Given the description of an element on the screen output the (x, y) to click on. 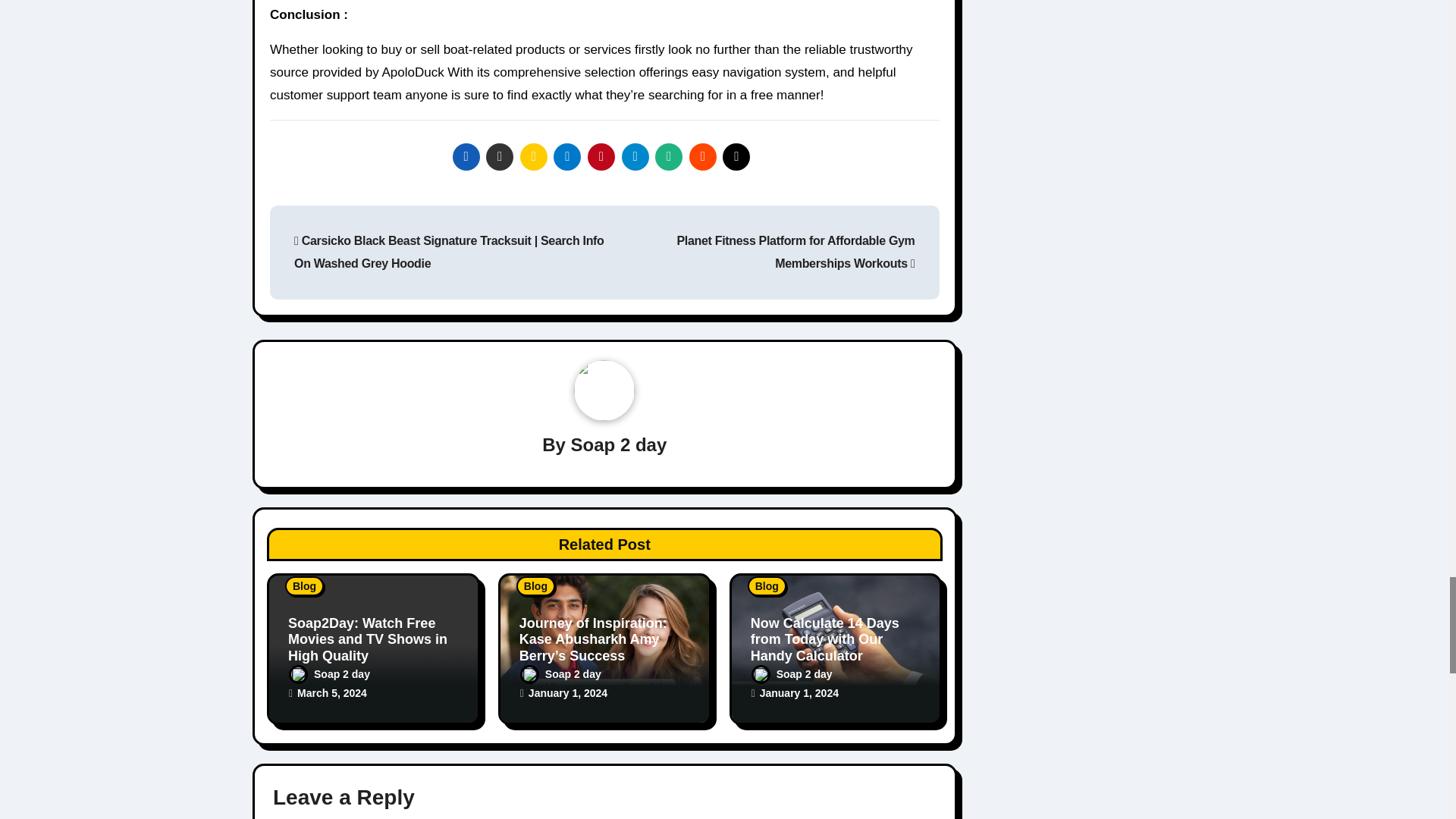
Soap2Day: Watch Free Movies and TV Shows in High Quality (367, 639)
Soap 2 day (618, 444)
March 5, 2024 (331, 693)
Blog (304, 586)
Soap 2 day (328, 674)
